Given the description of an element on the screen output the (x, y) to click on. 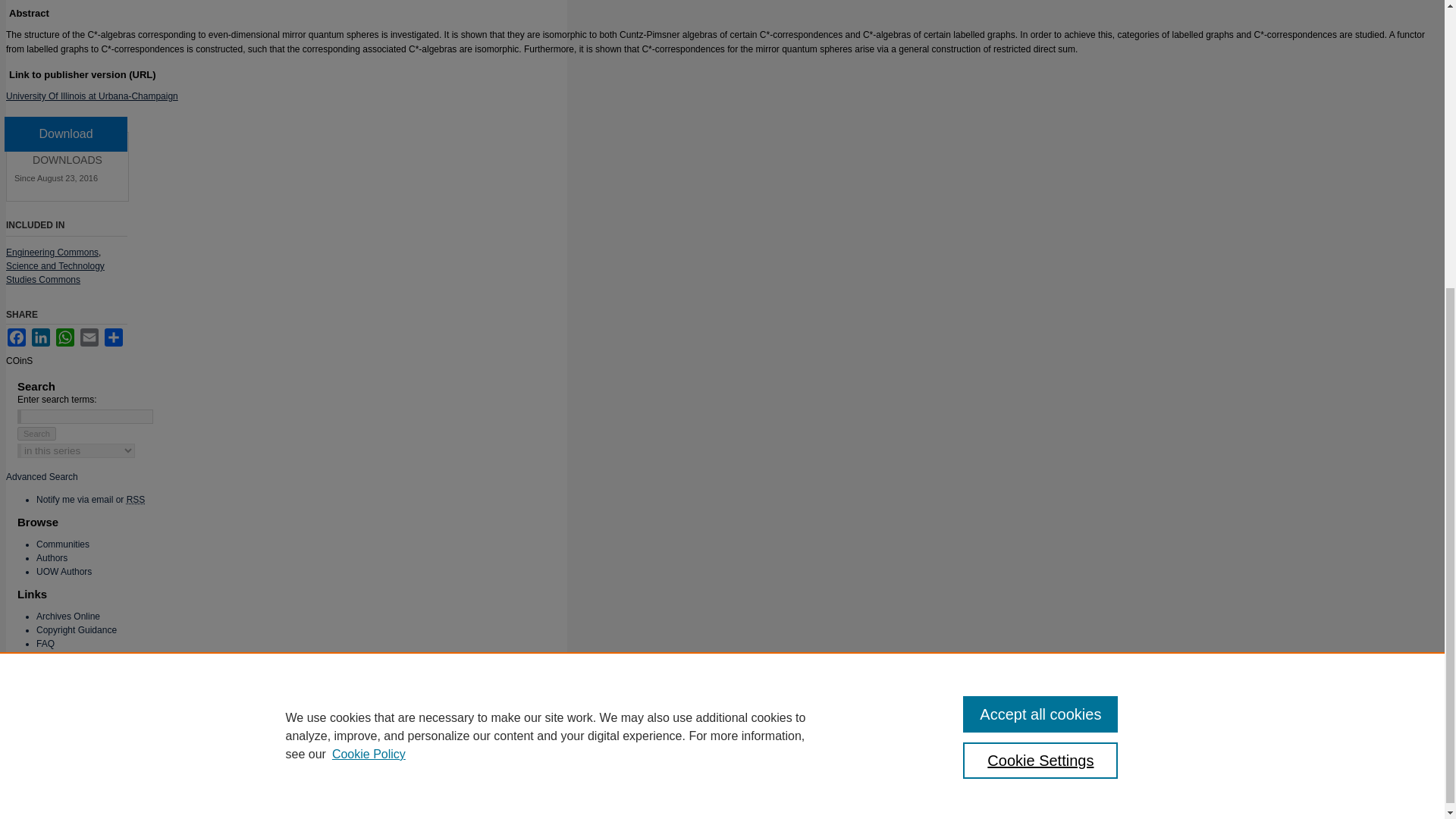
Communities (62, 543)
Advanced Search (41, 476)
Engineering Commons (52, 252)
Science and Technology Studies Commons (54, 273)
Email (89, 337)
Engineering Commons (52, 252)
Authors (51, 557)
Search (36, 433)
University Of Illinois at Urbana-Champaign (91, 95)
Really Simple Syndication (135, 499)
Share (113, 337)
Facebook (16, 337)
LinkedIn (40, 337)
Science and Technology Studies Commons (54, 273)
Search (36, 433)
